Given the description of an element on the screen output the (x, y) to click on. 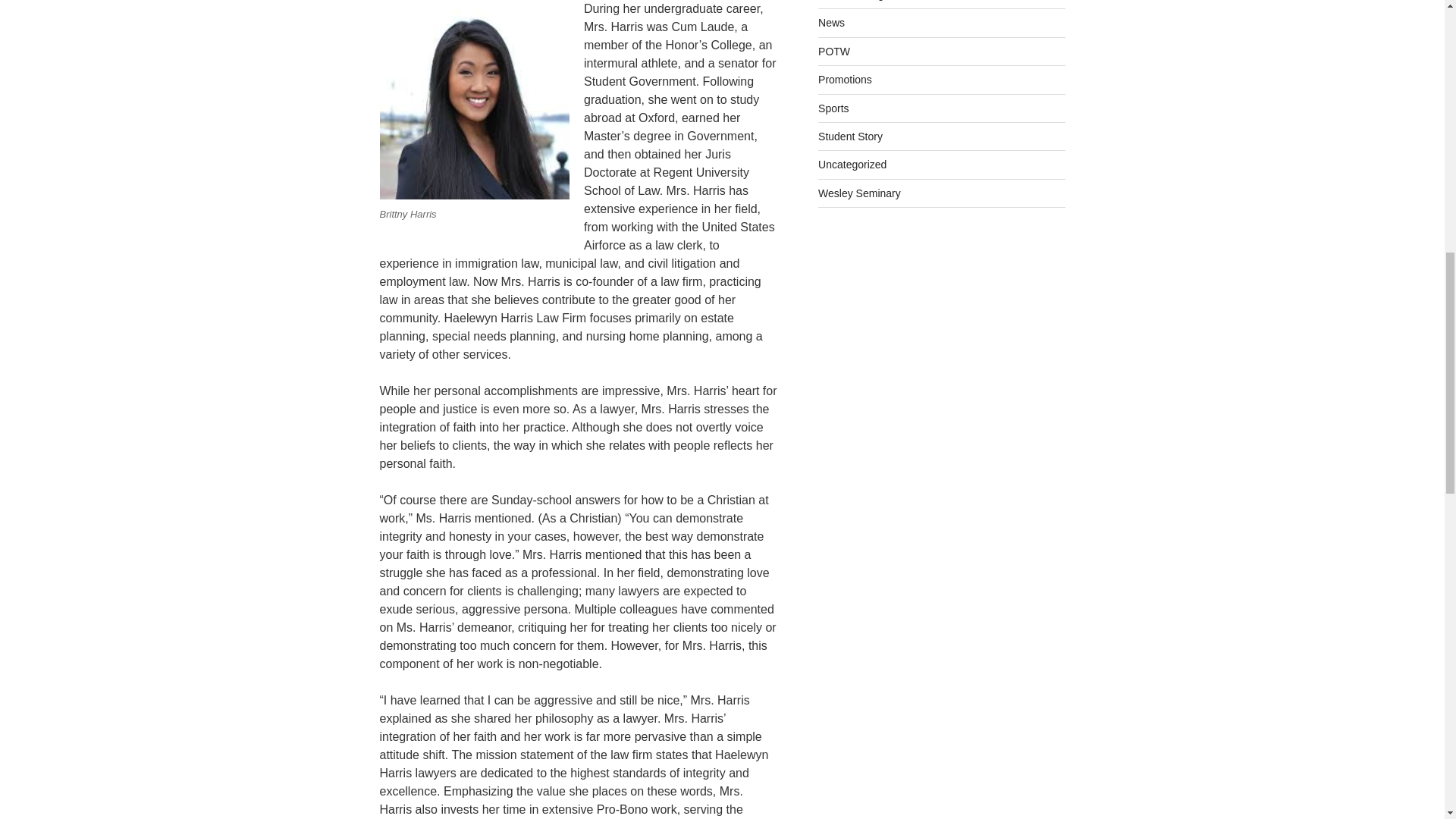
Student Story (850, 136)
Wesley Seminary (859, 193)
News (831, 22)
Promotions (845, 79)
POTW (834, 51)
Uncategorized (852, 164)
Sports (833, 107)
